Given the description of an element on the screen output the (x, y) to click on. 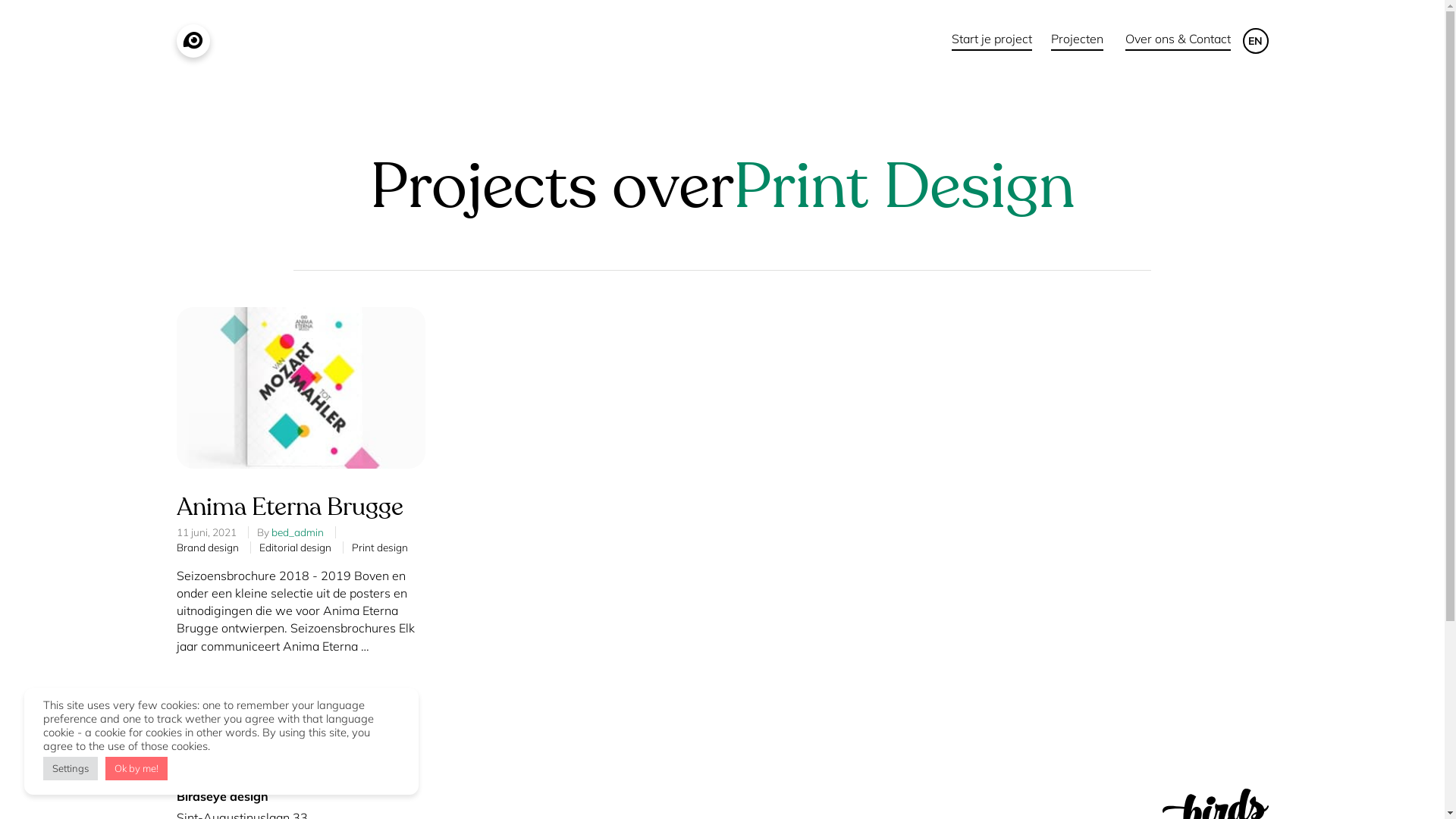
Anima Eterna Brugge Element type: text (288, 506)
Over ons & Contact Element type: text (1177, 40)
Editorial design Element type: text (295, 546)
Je project Element type: text (985, 584)
Verzenden Element type: text (988, 530)
Ok by me! Element type: text (136, 768)
EN Element type: text (1254, 40)
Start je project Element type: text (990, 40)
Print design Element type: text (379, 546)
Projecten Element type: text (1077, 40)
Settings Element type: text (70, 768)
bed_admin Element type: text (297, 531)
Brand design Element type: text (206, 546)
